Given the description of an element on the screen output the (x, y) to click on. 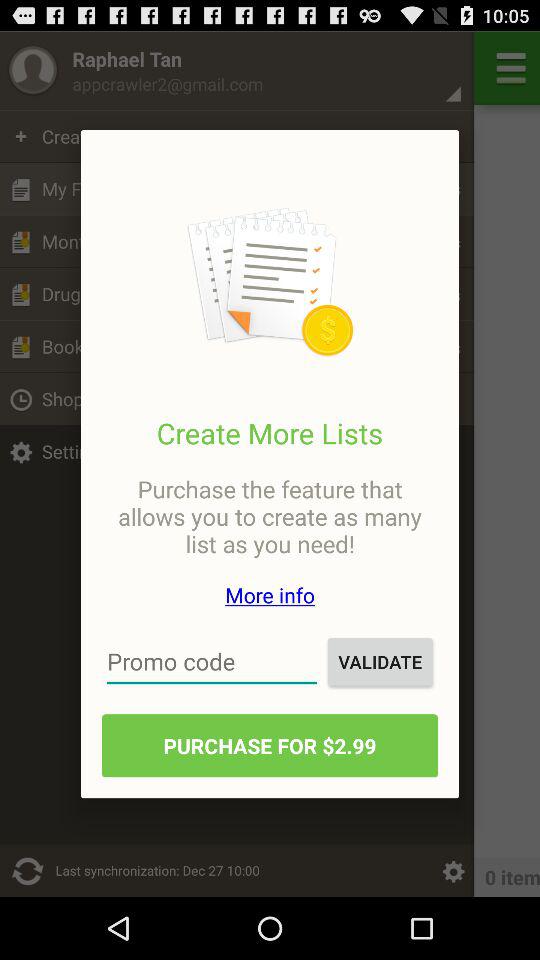
tap more info item (269, 594)
